Given the description of an element on the screen output the (x, y) to click on. 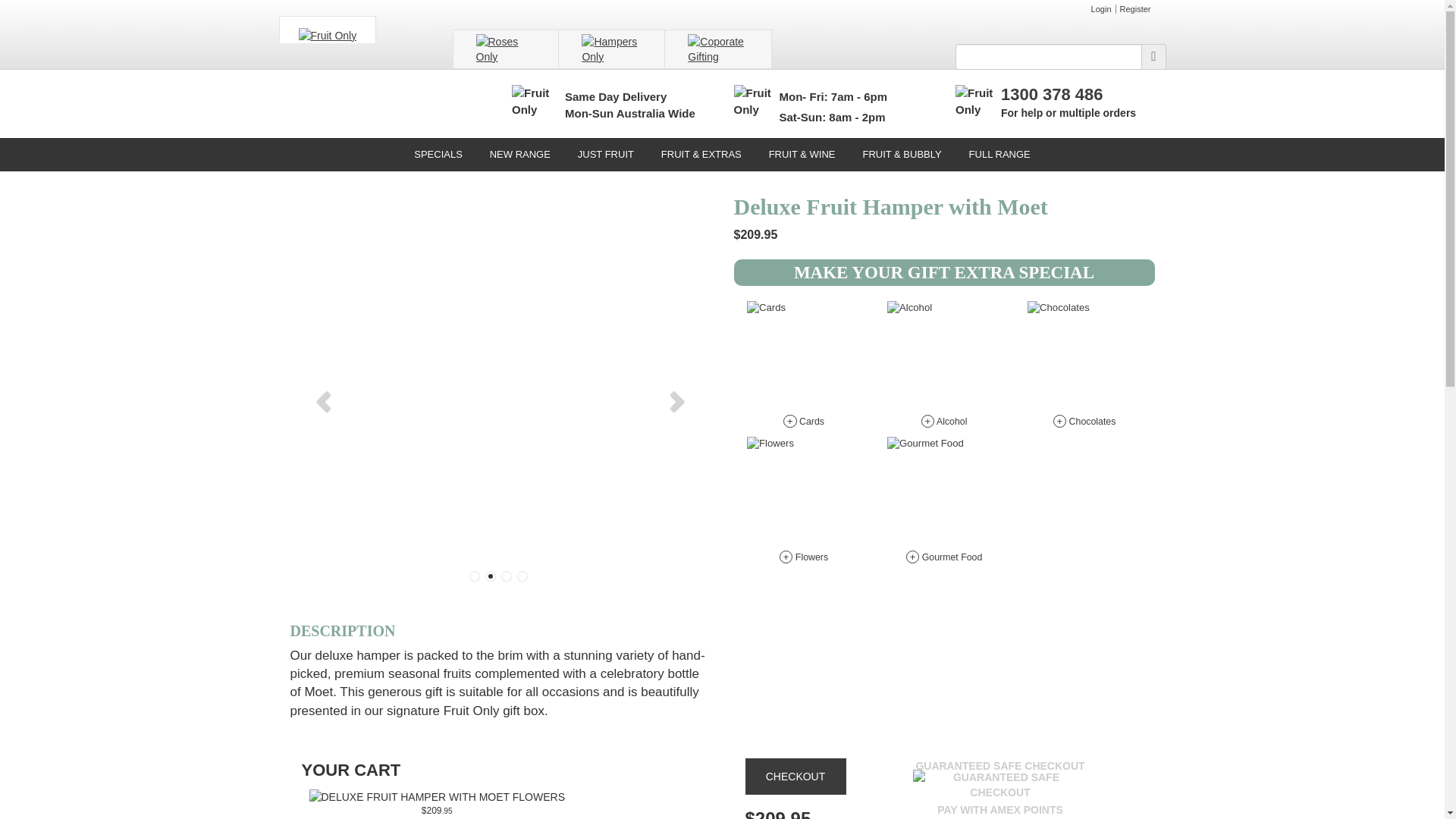
Register Element type: text (1135, 8)
Alcohol Element type: hover (944, 357)
Flowers Element type: hover (803, 493)
Gourmet Food Element type: hover (944, 493)
+ Chocolates Element type: text (1084, 368)
CHECKOUT Element type: text (794, 776)
FRUIT & BUBBLY Element type: text (901, 154)
Login Element type: text (1101, 8)
FULL RANGE Element type: text (999, 154)
+ Alcohol Element type: text (943, 368)
1300 378 486 Element type: text (1052, 93)
Deluxe Fruit Hamper with Moet by Fruit Only Element type: hover (437, 796)
NEW RANGE Element type: text (519, 154)
Chocolates Element type: hover (1084, 357)
FRUIT & WINE Element type: text (801, 154)
+ Cards Element type: text (804, 368)
+ Flowers Element type: text (804, 504)
JUST FRUIT Element type: text (605, 154)
+ Gourmet Food Element type: text (943, 504)
FRUIT & EXTRAS Element type: text (701, 154)
Guaranteed safe checkout Element type: hover (1000, 785)
SPECIALS Element type: text (437, 154)
Cards Element type: hover (803, 357)
